Given the description of an element on the screen output the (x, y) to click on. 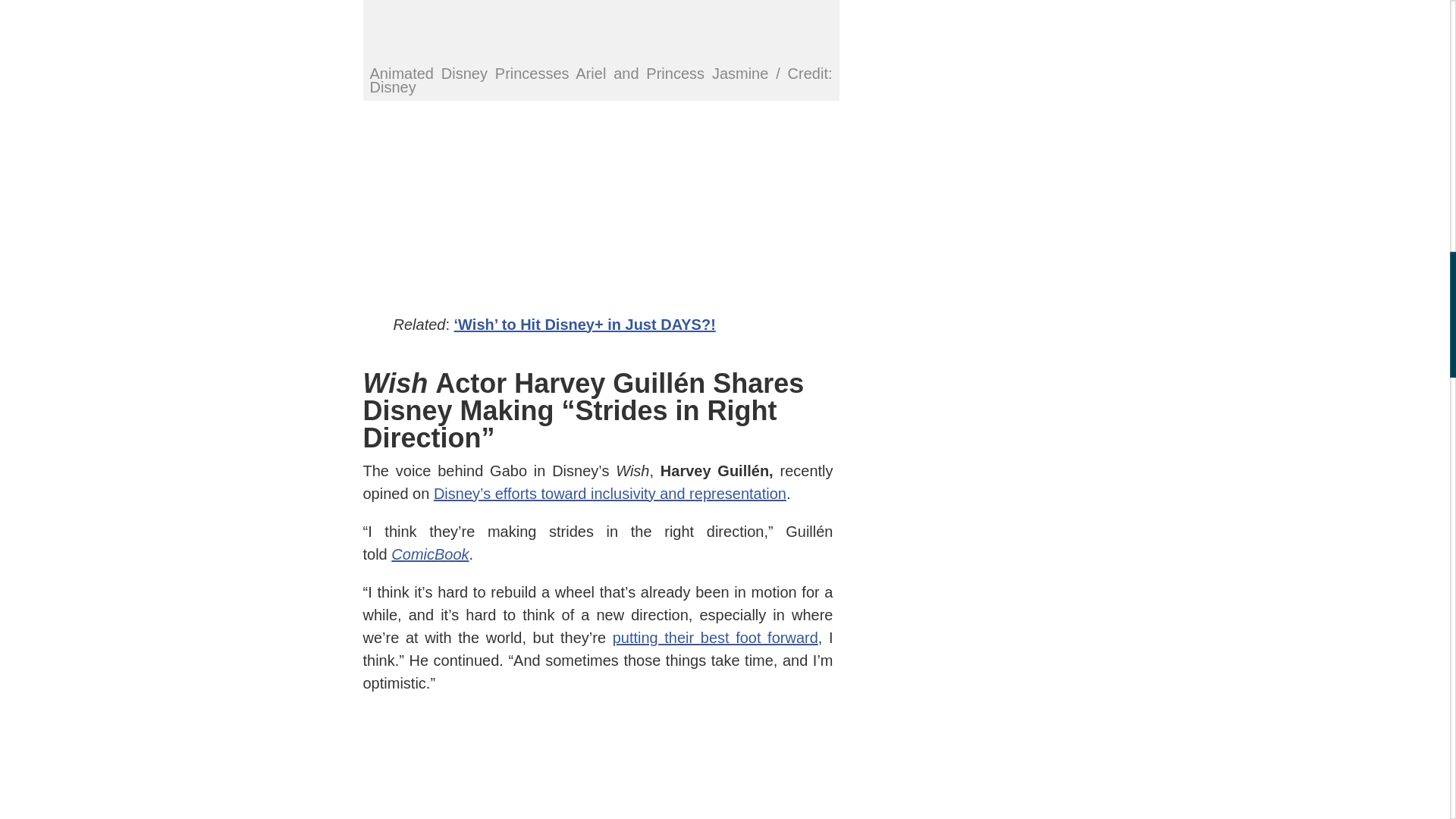
putting their best foot forward (715, 637)
ComicBook (429, 554)
